Given the description of an element on the screen output the (x, y) to click on. 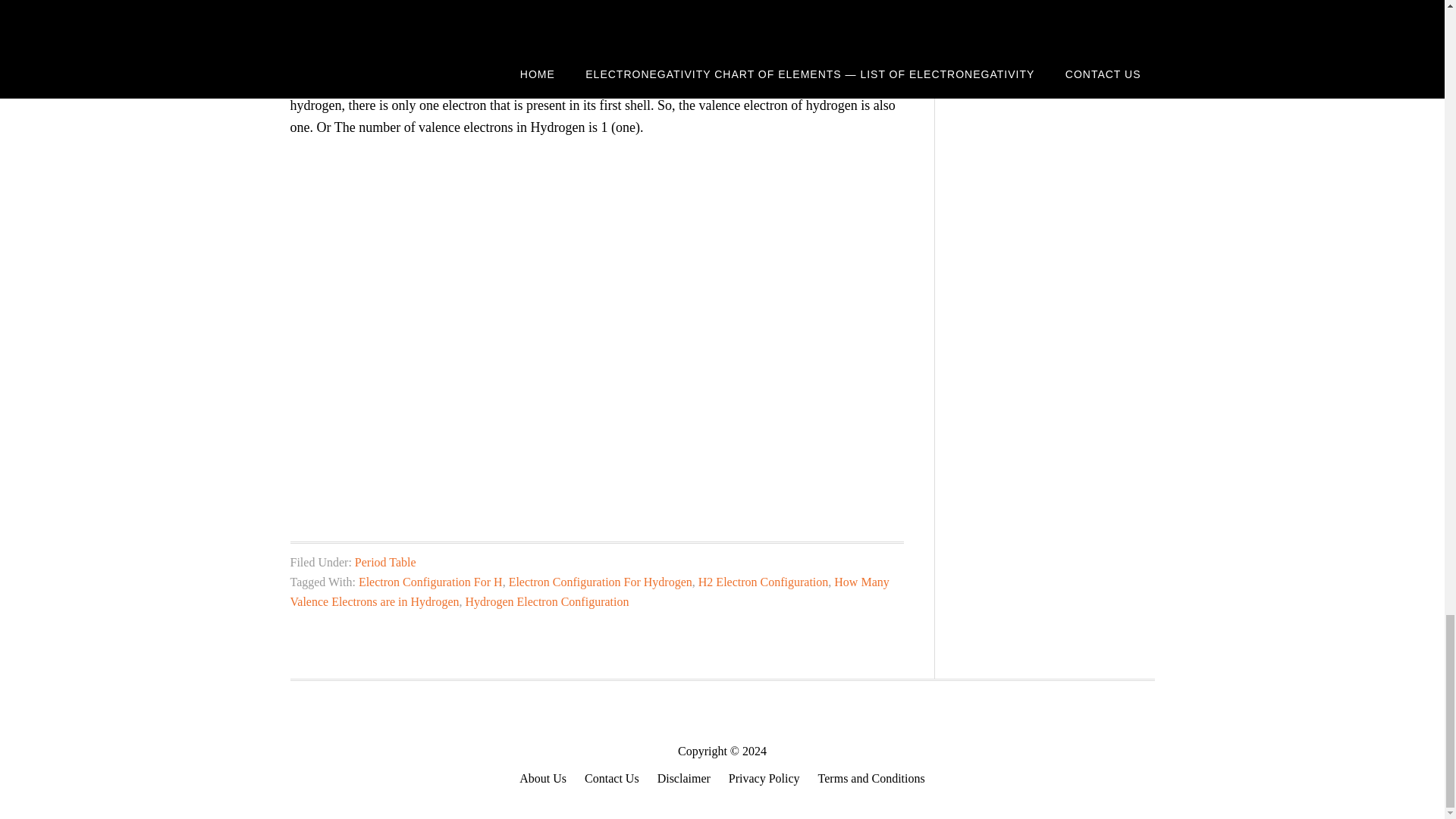
Electron Configuration For Hydrogen (600, 581)
Electron Configuration For H (430, 581)
How Many Valence Electrons are in Hydrogen (588, 591)
Period Table (385, 562)
H2 Electron Configuration (763, 581)
